Given the description of an element on the screen output the (x, y) to click on. 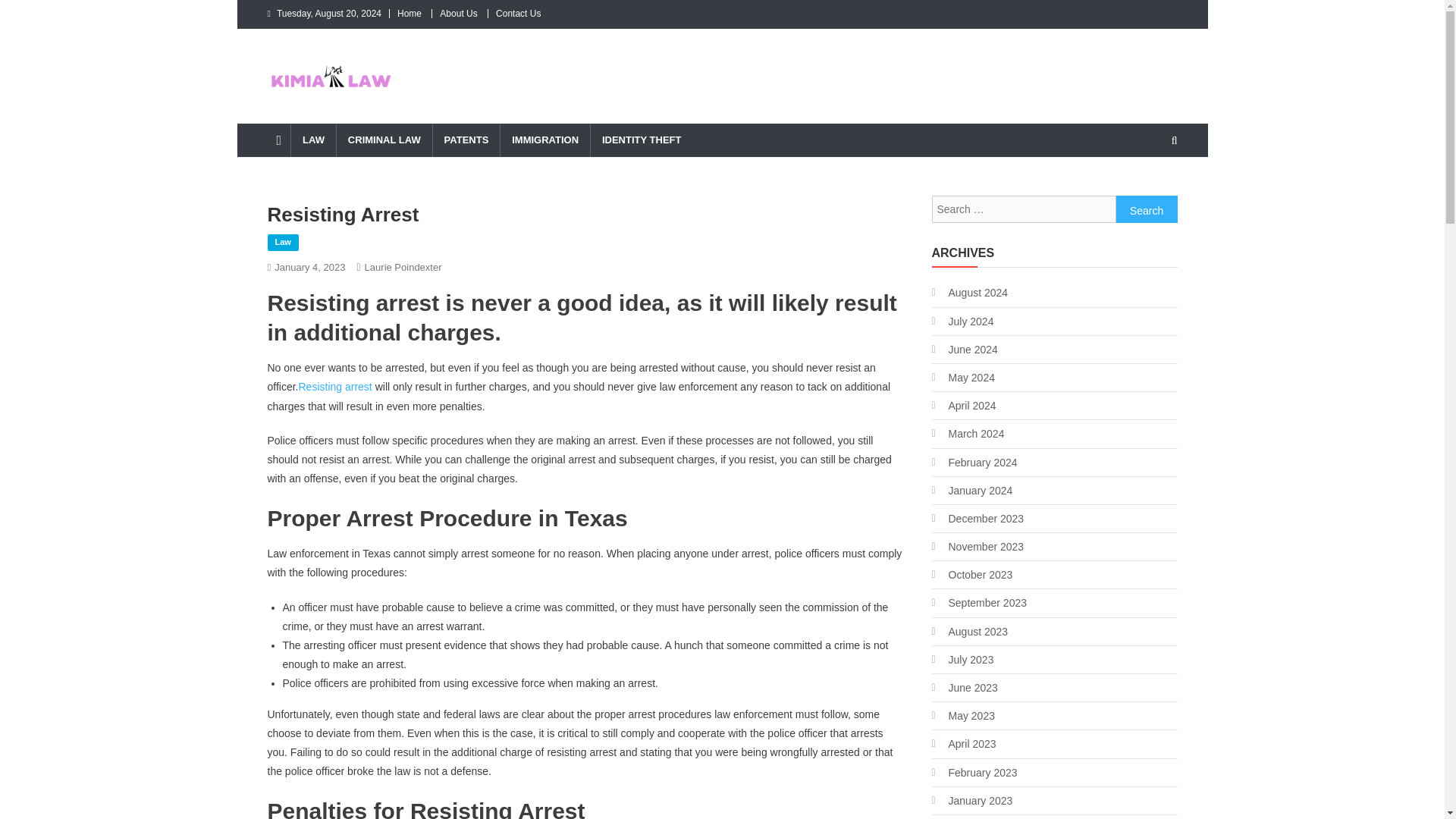
Home (409, 13)
PATENTS (466, 140)
Kimia Law (326, 108)
Resisting arrest (335, 386)
August 2024 (969, 292)
LAW (312, 140)
CRIMINAL LAW (384, 140)
April 2024 (963, 405)
June 2024 (964, 349)
May 2024 (962, 377)
